Given the description of an element on the screen output the (x, y) to click on. 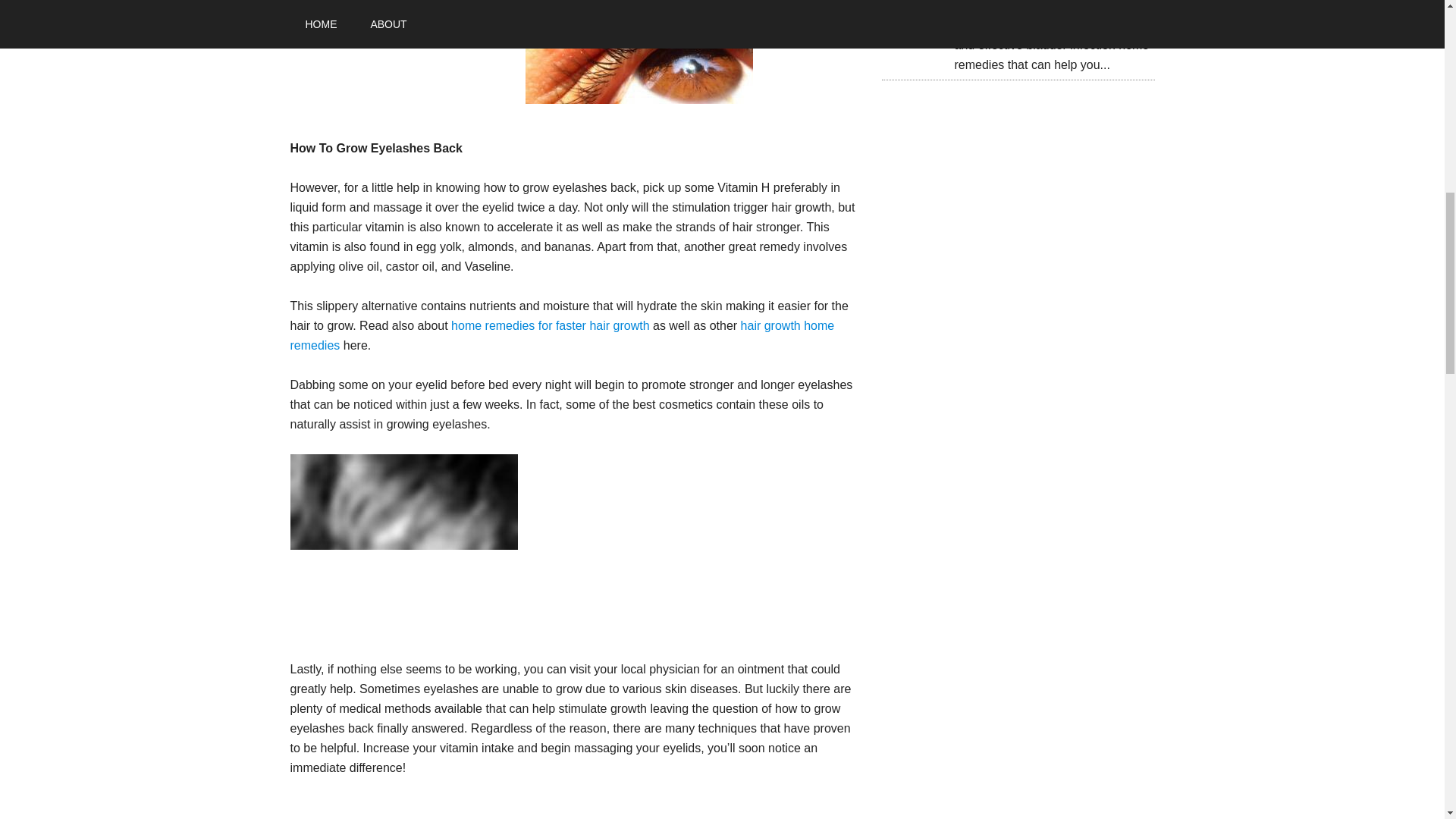
regrow eyelashes naturally (402, 539)
how to grow eyelashes back (638, 52)
hair growth home remedies (561, 335)
home remedies for faster hair growth (550, 325)
